Given the description of an element on the screen output the (x, y) to click on. 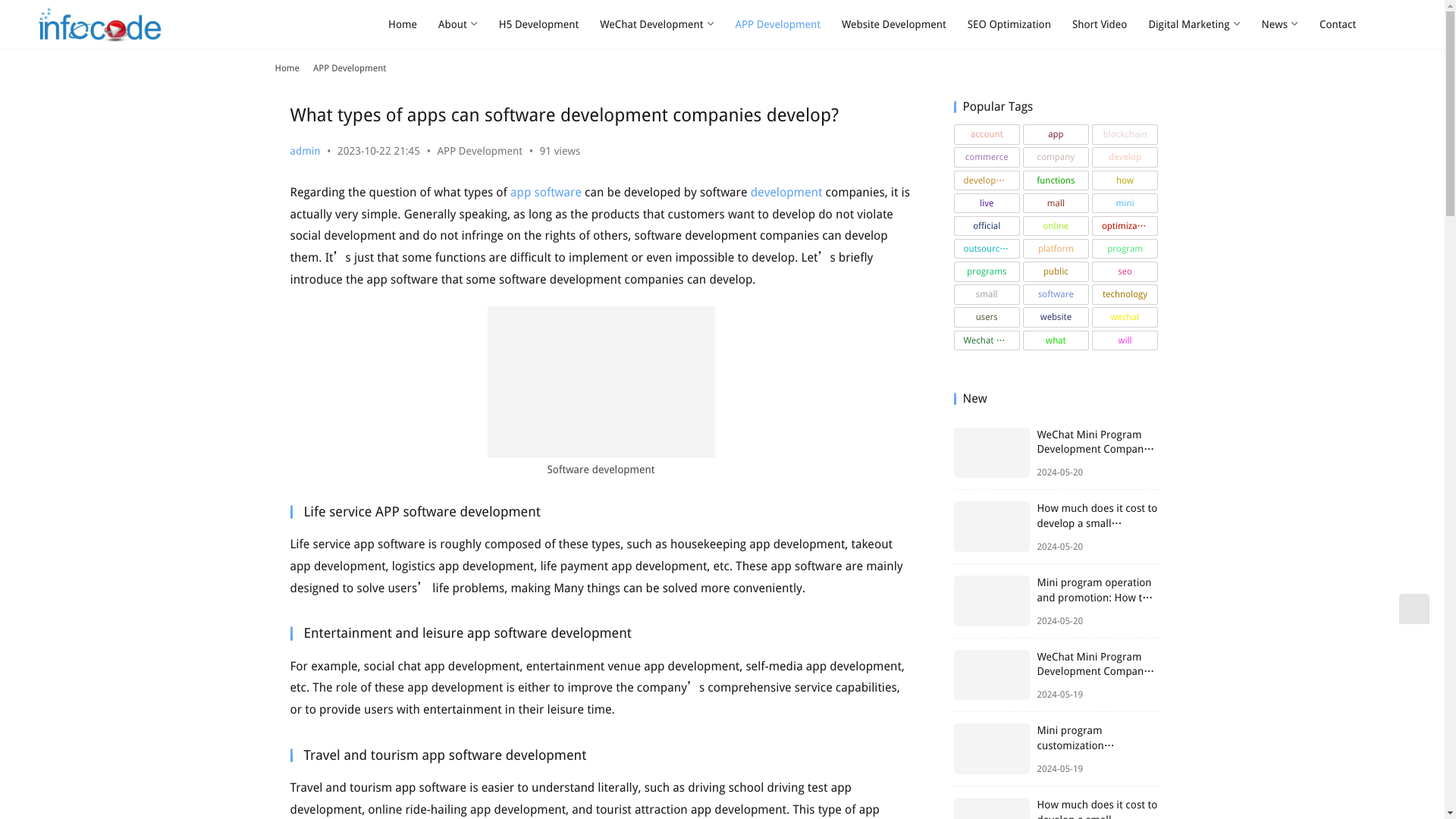
development (786, 192)
APP Development (480, 150)
WeChat Development (656, 24)
H5 Development (538, 24)
app (521, 192)
Digital Marketing (1193, 24)
SEO Optimization (1008, 24)
News (1279, 24)
APP Development (349, 68)
software (557, 192)
Home (287, 68)
Short Video (1099, 24)
Home (402, 24)
software (557, 192)
admin (304, 150)
